Given the description of an element on the screen output the (x, y) to click on. 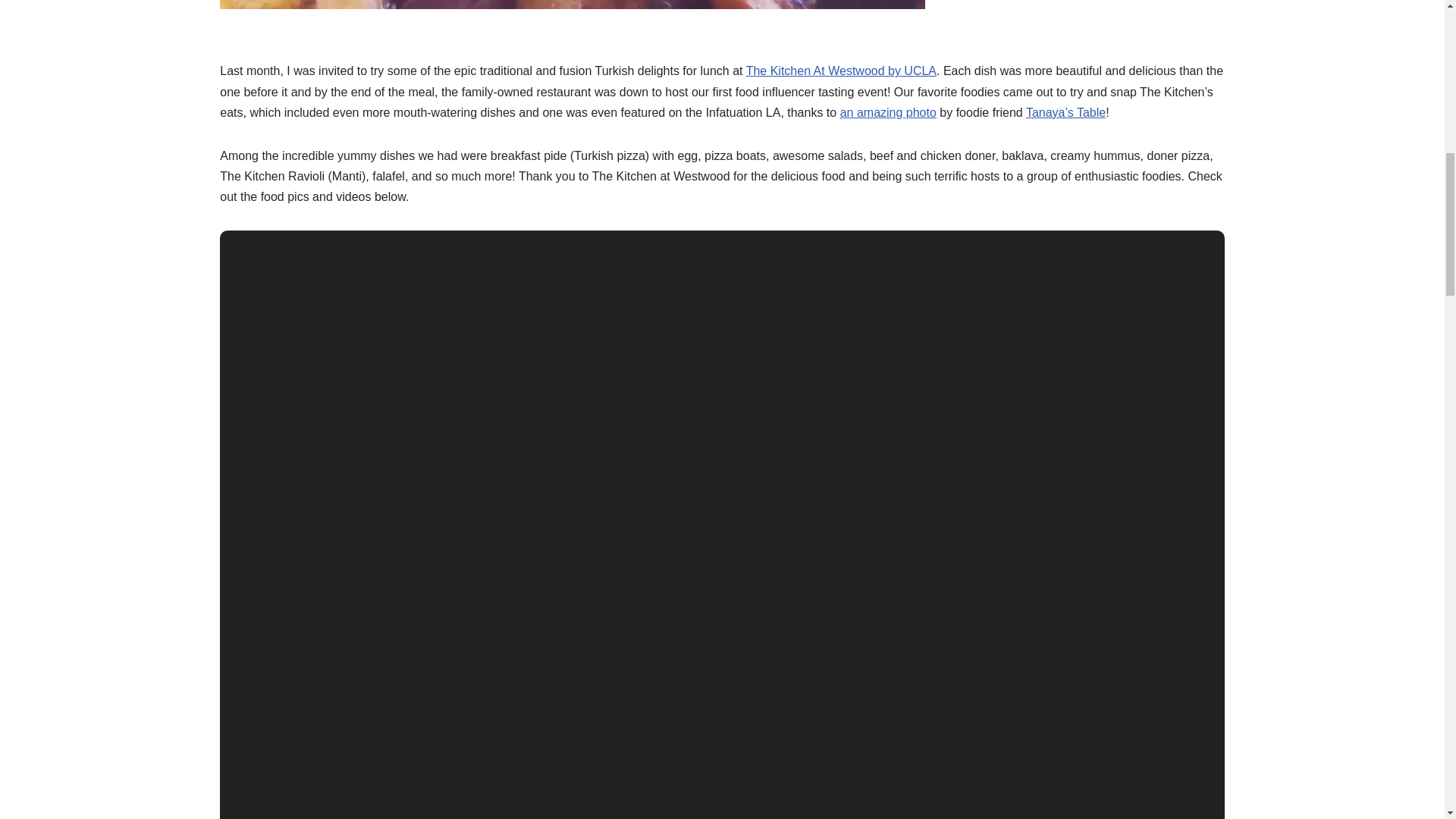
an amazing photo (888, 112)
The Kitchen At Westwood by UCLA (840, 70)
